Given the description of an element on the screen output the (x, y) to click on. 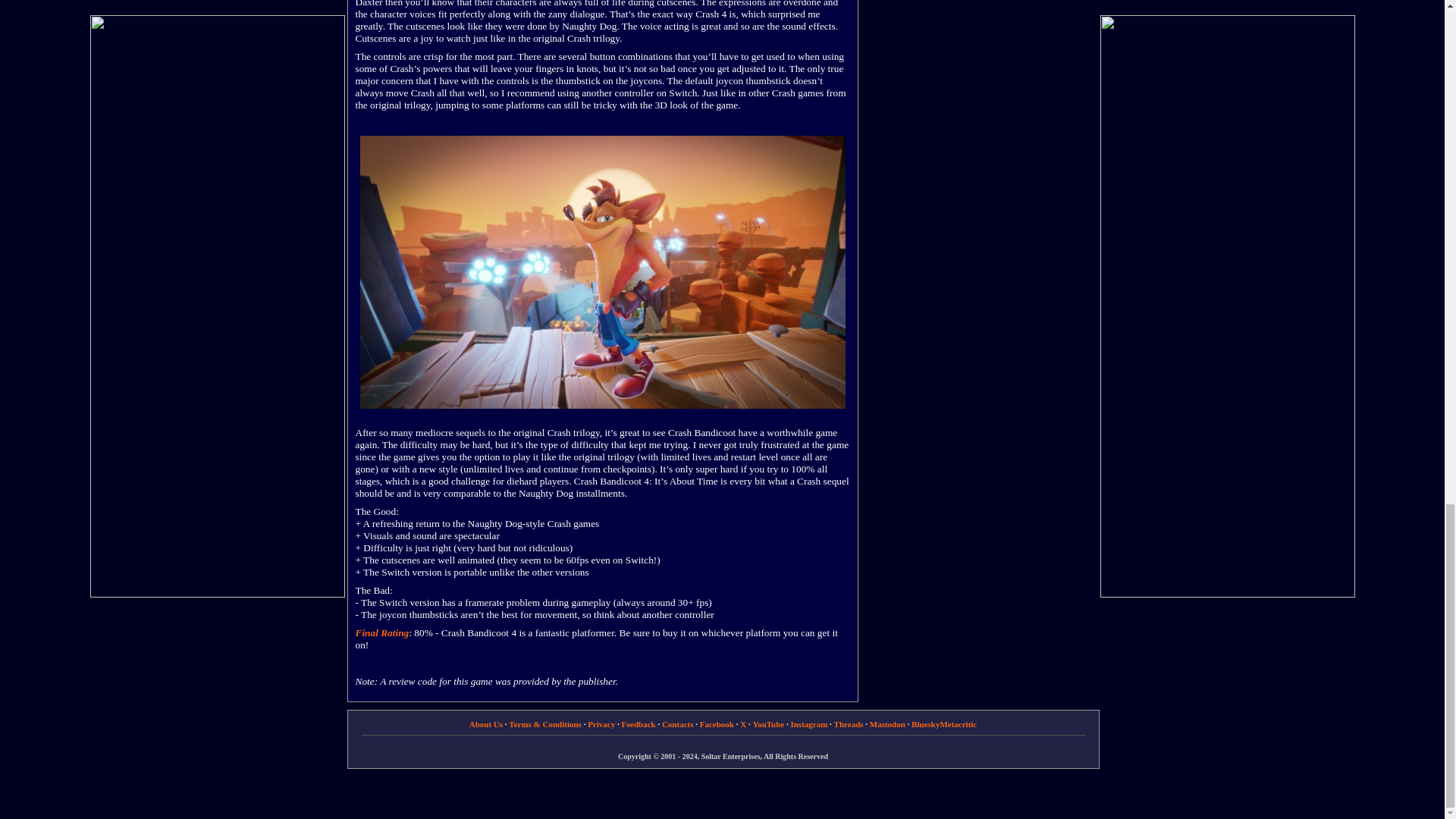
Bluesky (925, 723)
Final Rating (382, 632)
About Us (485, 723)
YouTube (768, 723)
Instagram (808, 723)
Mastodon (887, 723)
Threads (848, 723)
Feedback (638, 723)
Facebook (716, 723)
Privacy (601, 723)
Contacts (678, 723)
